Given the description of an element on the screen output the (x, y) to click on. 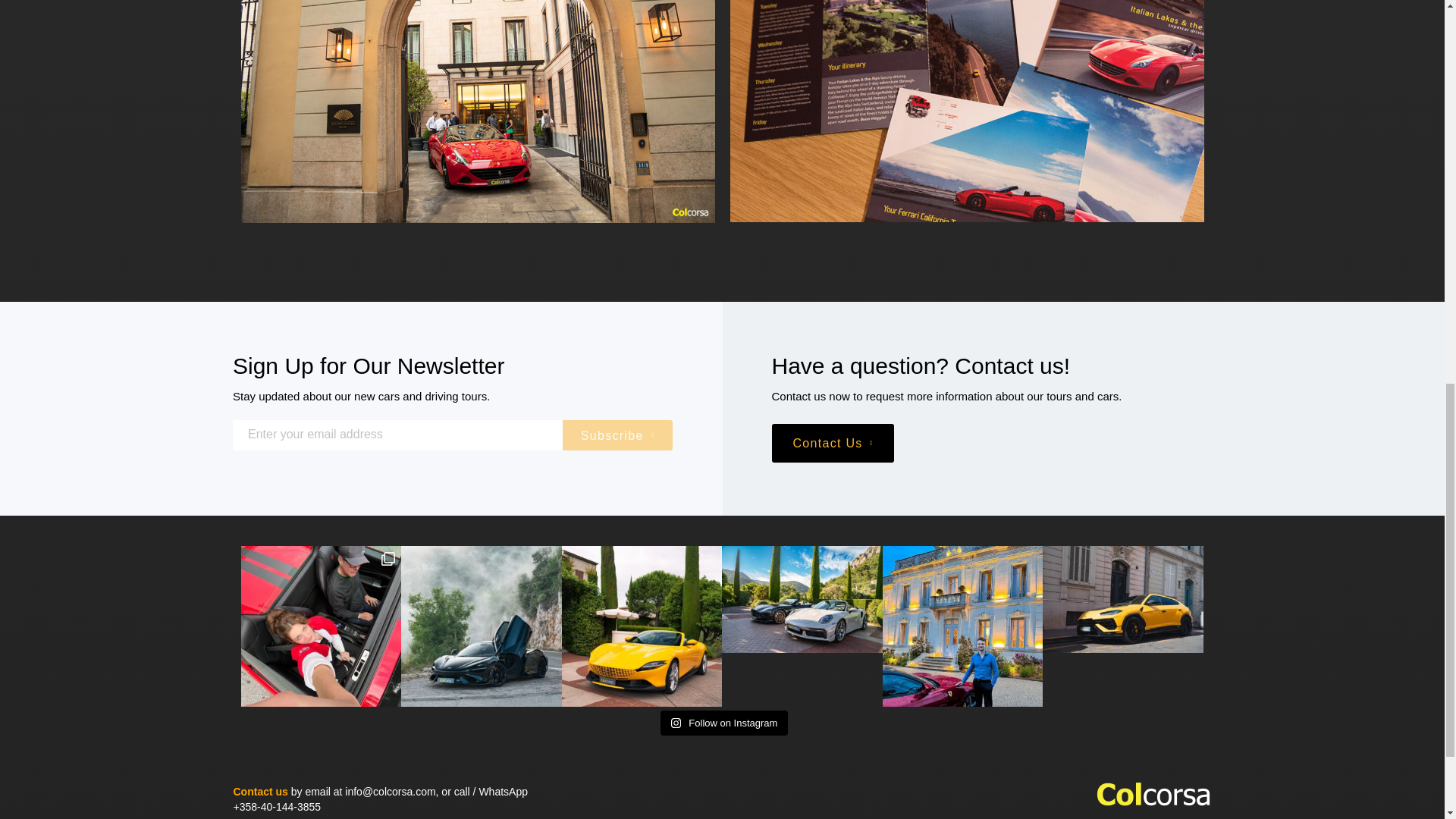
Contact Us (833, 443)
Follow on Instagram (725, 723)
Subscribe (617, 435)
